Given the description of an element on the screen output the (x, y) to click on. 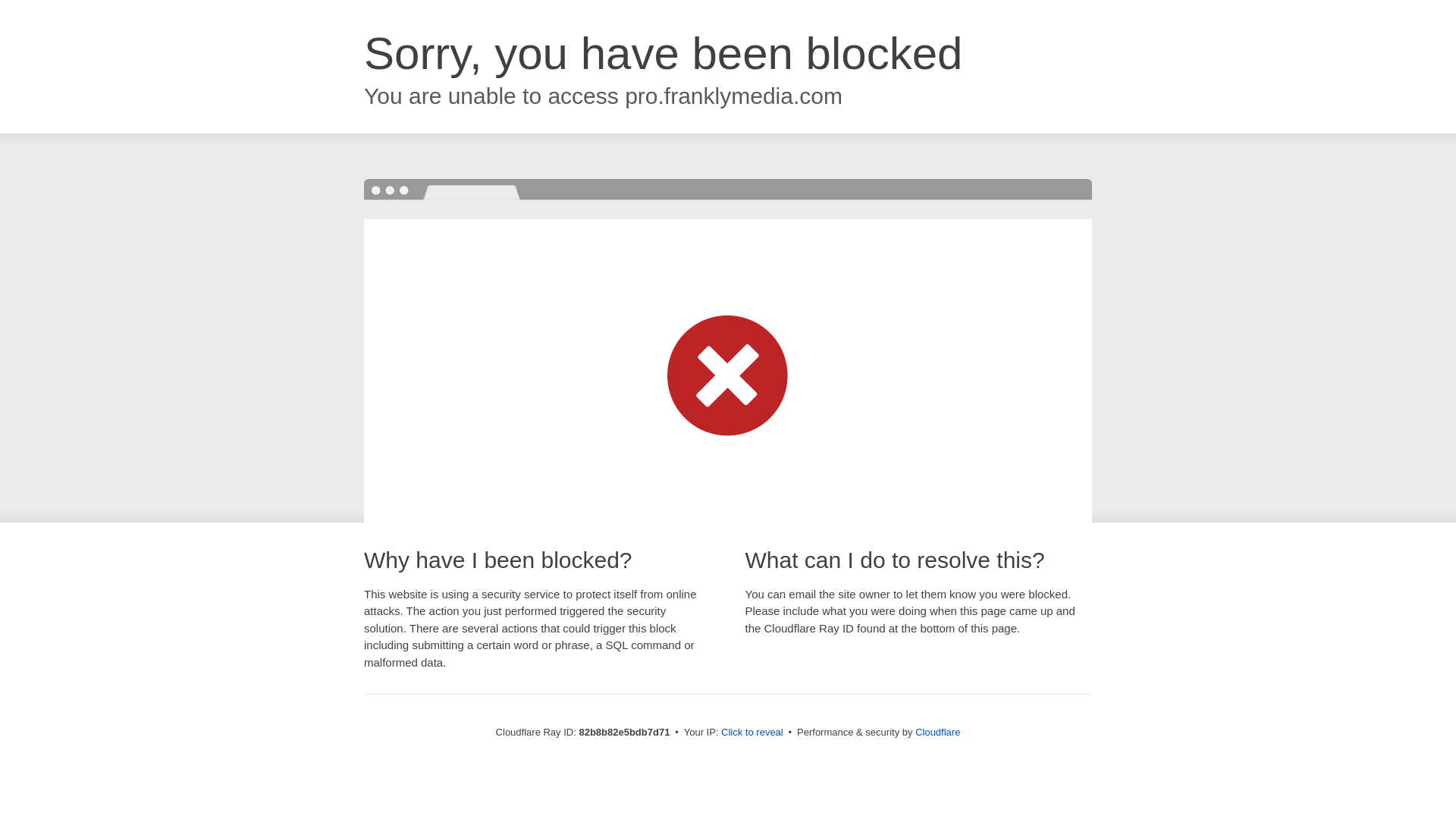
Click to reveal Element type: text (752, 732)
Cloudflare Element type: text (937, 731)
